Given the description of an element on the screen output the (x, y) to click on. 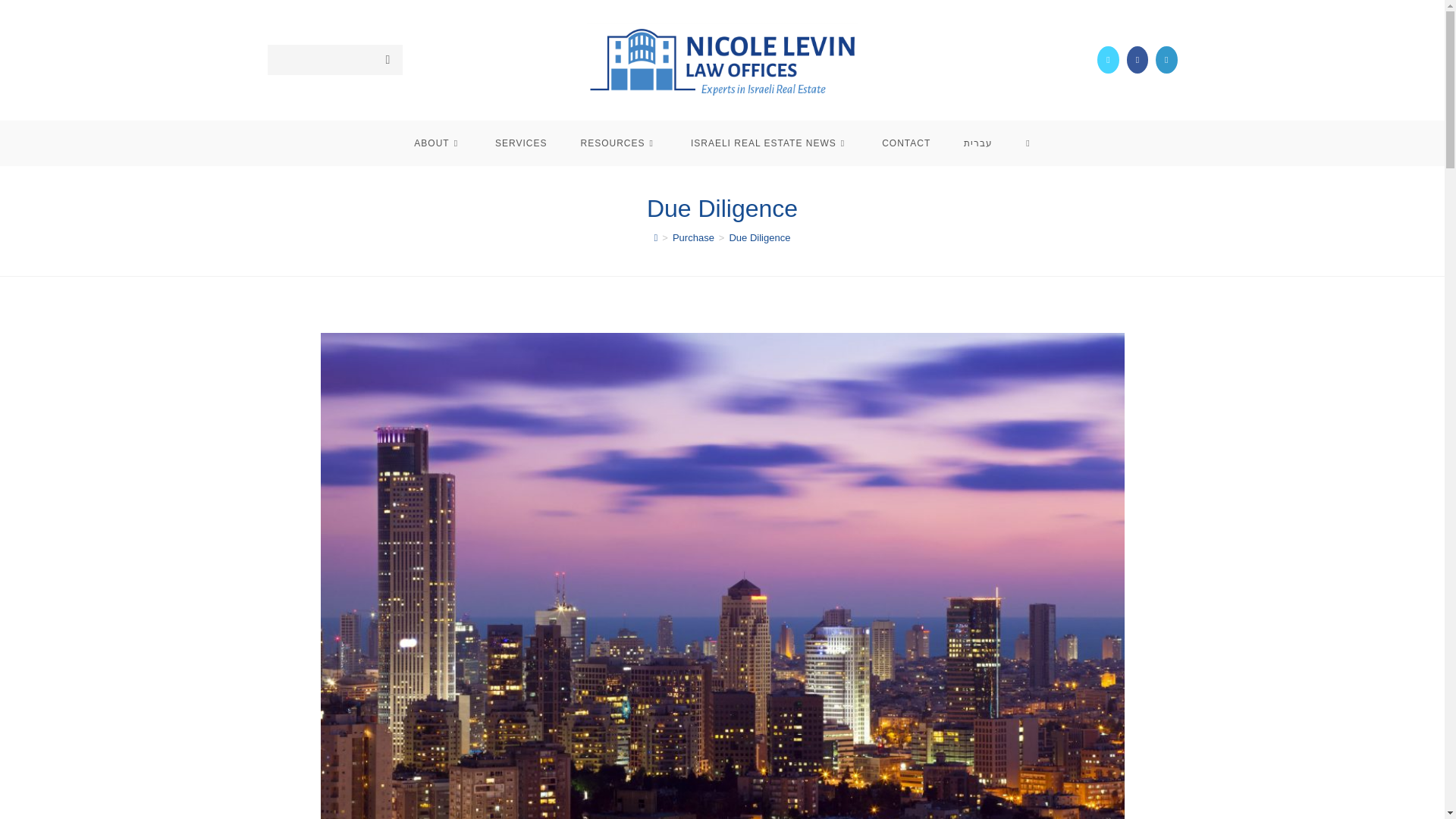
CONTACT (905, 143)
ISRAELI REAL ESTATE NEWS (769, 143)
ABOUT (438, 143)
RESOURCES (619, 143)
SERVICES (521, 143)
